Given the description of an element on the screen output the (x, y) to click on. 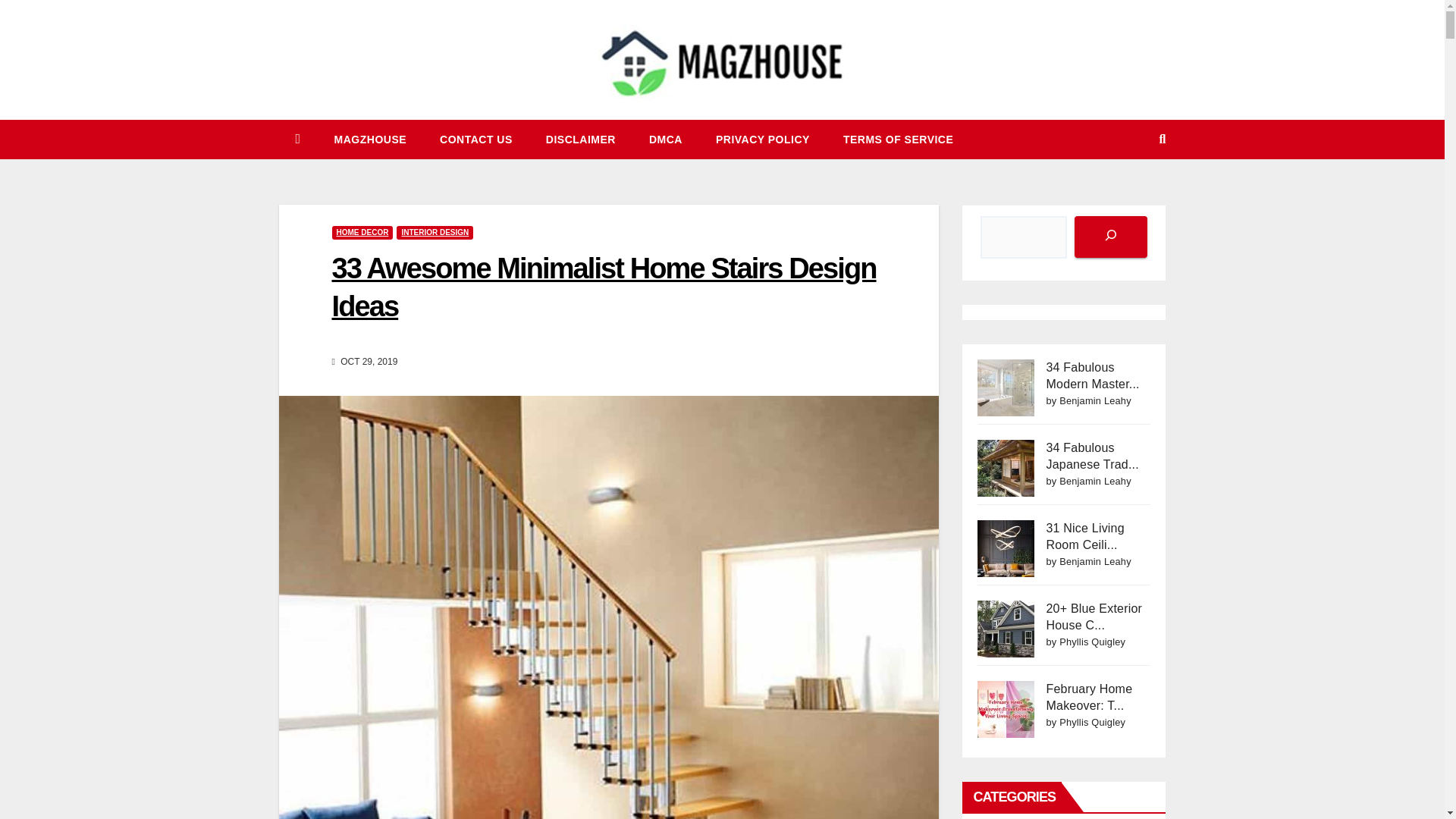
Contact Us (476, 138)
HOME DECOR (362, 232)
TERMS OF SERVICE (898, 138)
Terms of Service (898, 138)
Magzhouse (370, 138)
33 Awesome Minimalist Home Stairs Design Ideas (603, 286)
Permalink to: 33 Awesome Minimalist Home Stairs Design Ideas (603, 286)
Disclaimer (580, 138)
PRIVACY POLICY (762, 138)
DISCLAIMER (580, 138)
INTERIOR DESIGN (434, 232)
DMCA (664, 138)
DMCA (664, 138)
Privacy Policy (762, 138)
CONTACT US (476, 138)
